Given the description of an element on the screen output the (x, y) to click on. 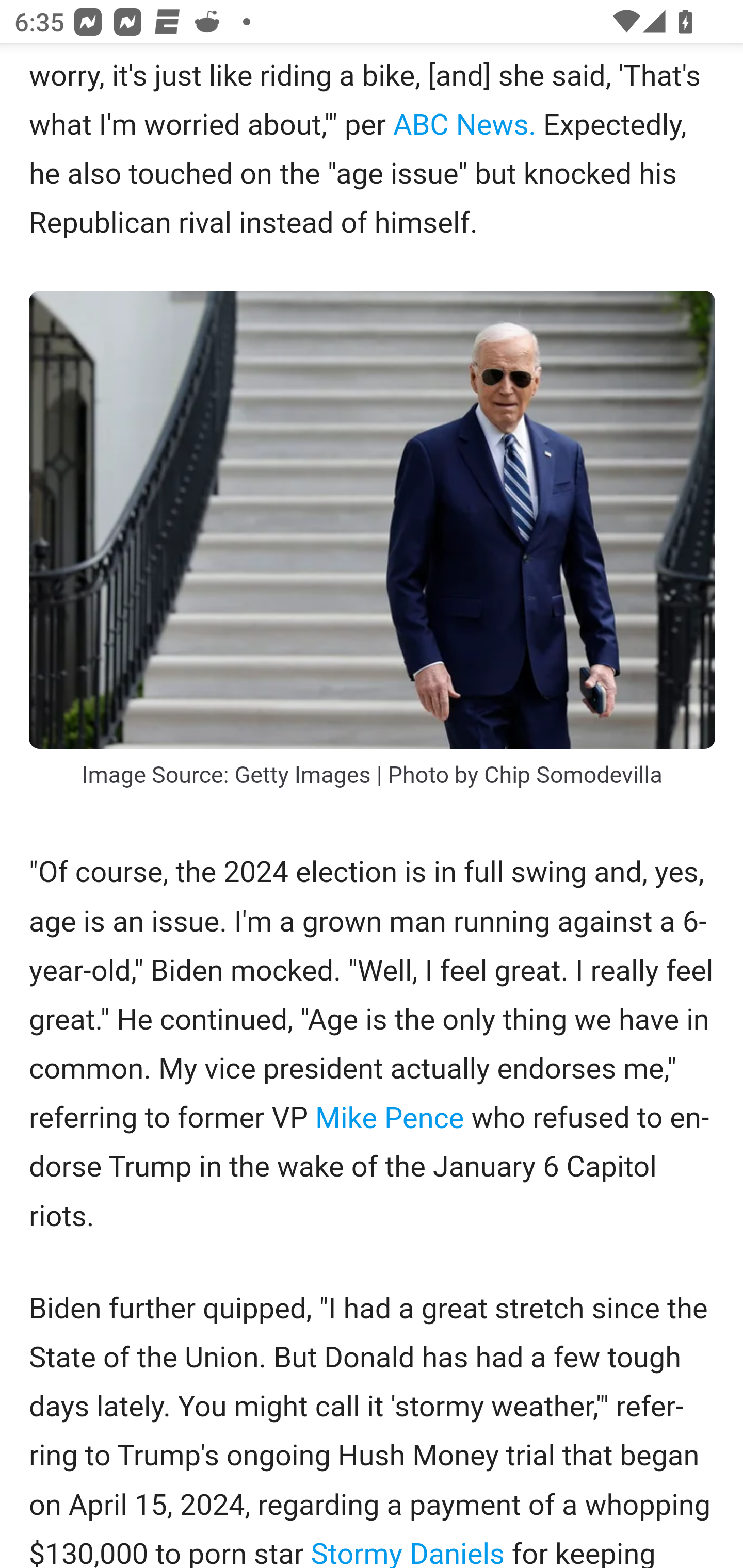
ABC News. (464, 124)
Mike Pence (389, 1119)
Stormy Daniels (407, 1549)
